Given the description of an element on the screen output the (x, y) to click on. 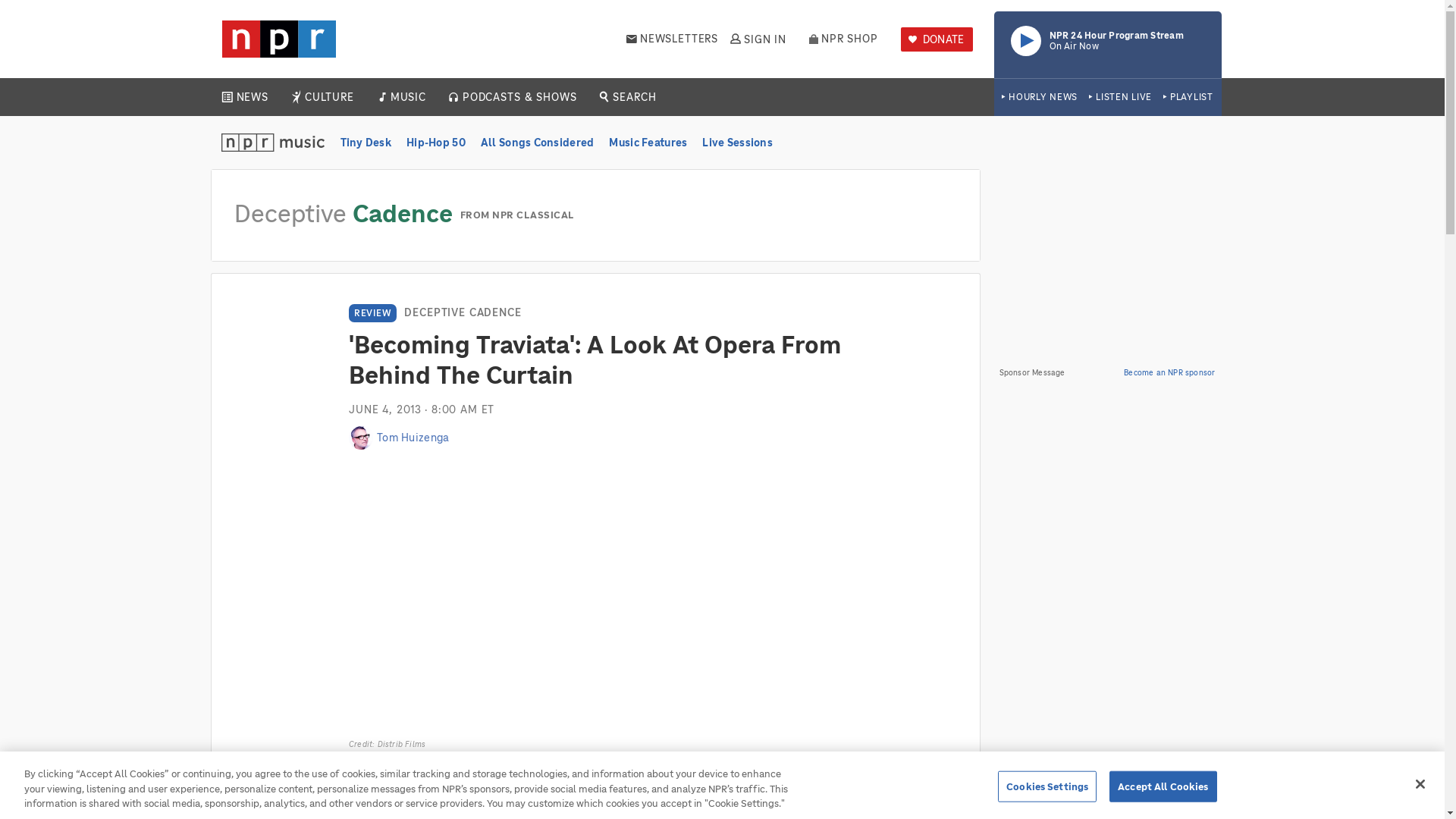
MUSIC (1106, 44)
NEWSLETTERS (407, 96)
LISTEN LIVE (671, 38)
CULTURE (1120, 97)
DONATE (328, 96)
PLAYLIST (936, 39)
NEWS (1187, 97)
SIGN IN (251, 96)
NPR SHOP (757, 38)
HOURLY NEWS (843, 38)
